Given the description of an element on the screen output the (x, y) to click on. 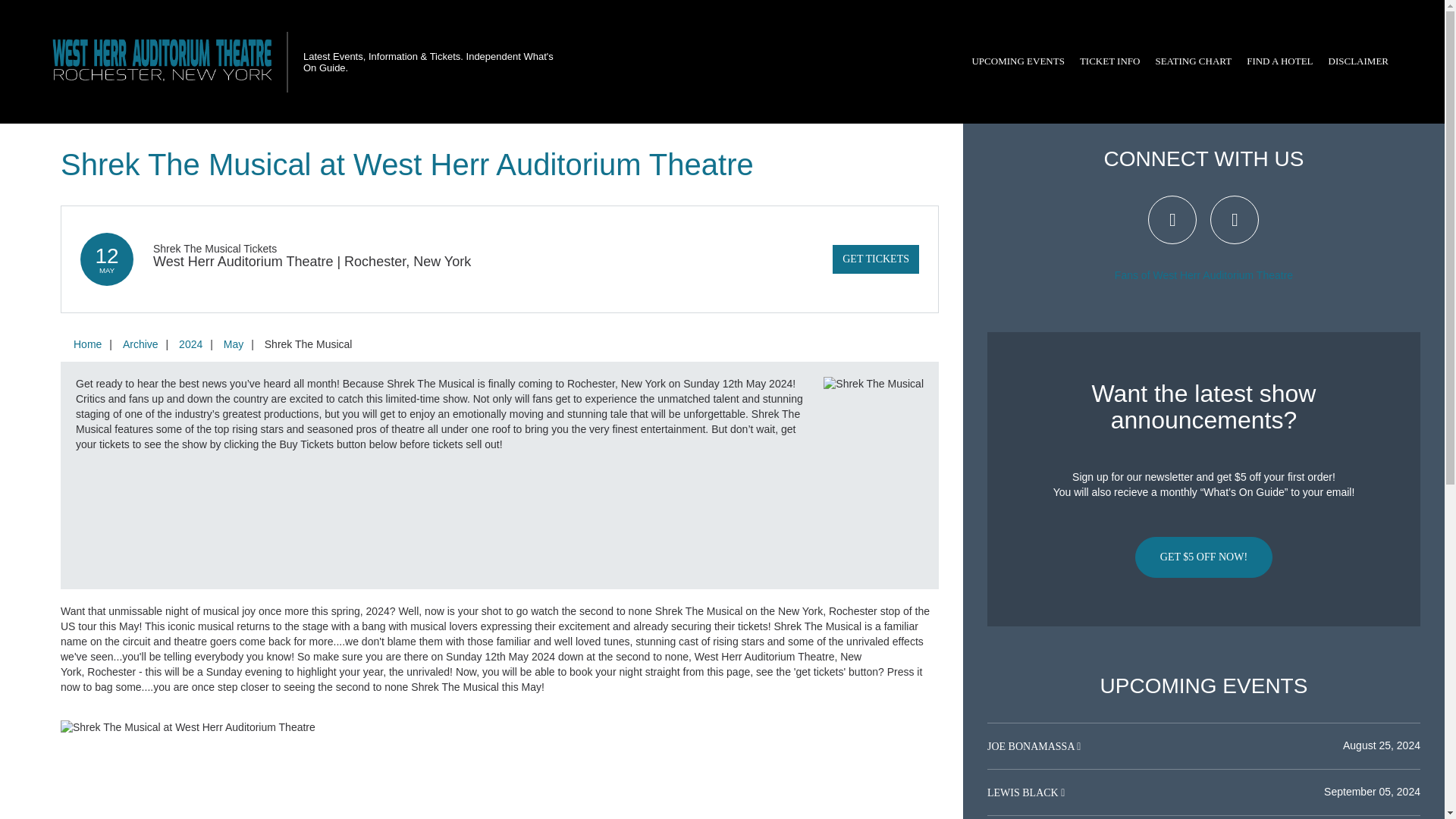
May (232, 344)
SEATING CHART (1193, 61)
FIND A HOTEL (1279, 61)
Shrek The Musical Tickets (214, 248)
UPCOMING EVENTS (1017, 61)
Fans of West Herr Auditorium Theatre (1203, 275)
GET TICKETS (875, 258)
TICKET INFO (1109, 61)
Archive (140, 344)
DISCLAIMER (1358, 61)
Home (87, 344)
2024 (190, 344)
JOE BONAMASSA (1032, 746)
